Given the description of an element on the screen output the (x, y) to click on. 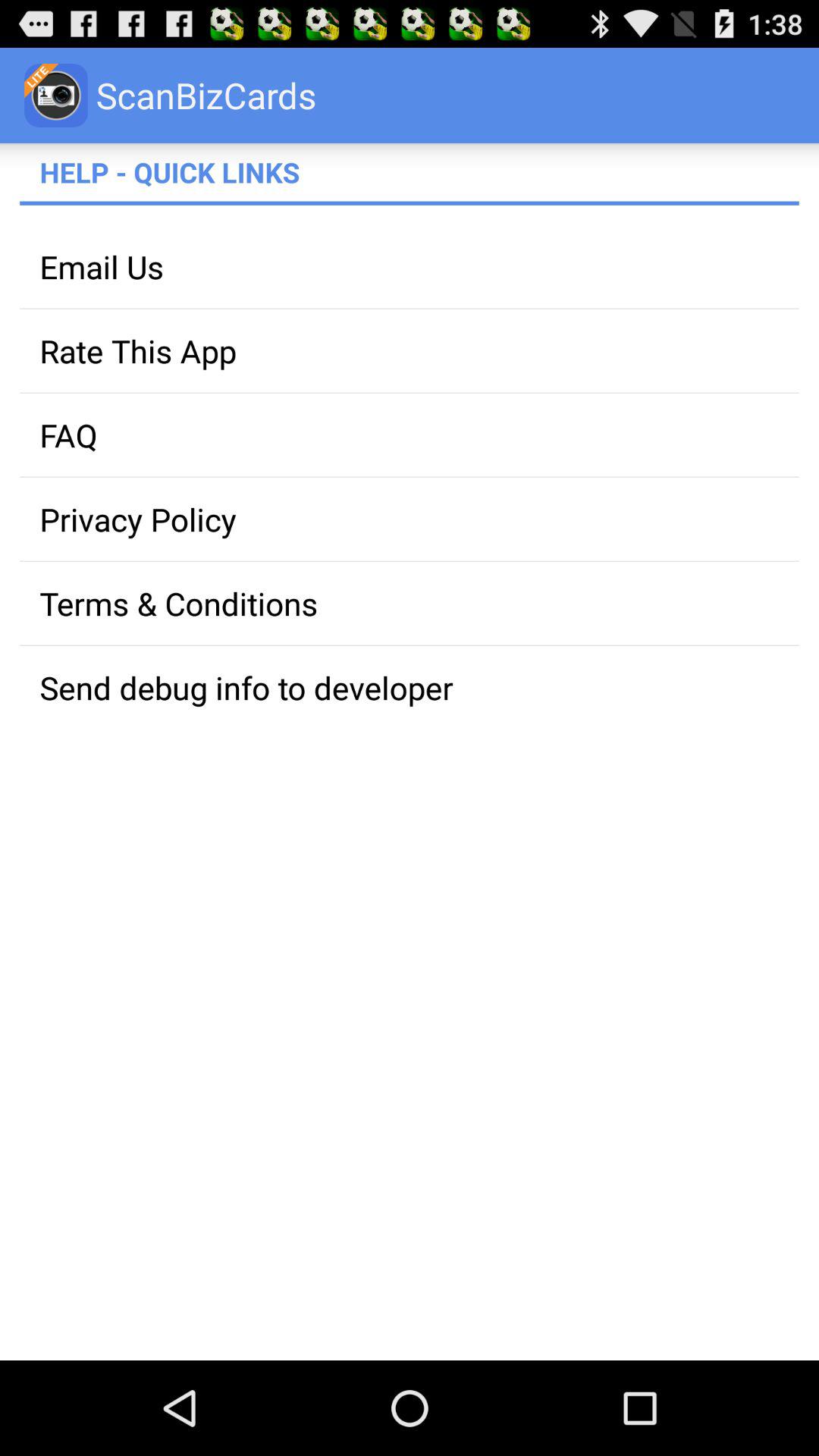
turn off the item above the rate this app app (409, 266)
